Given the description of an element on the screen output the (x, y) to click on. 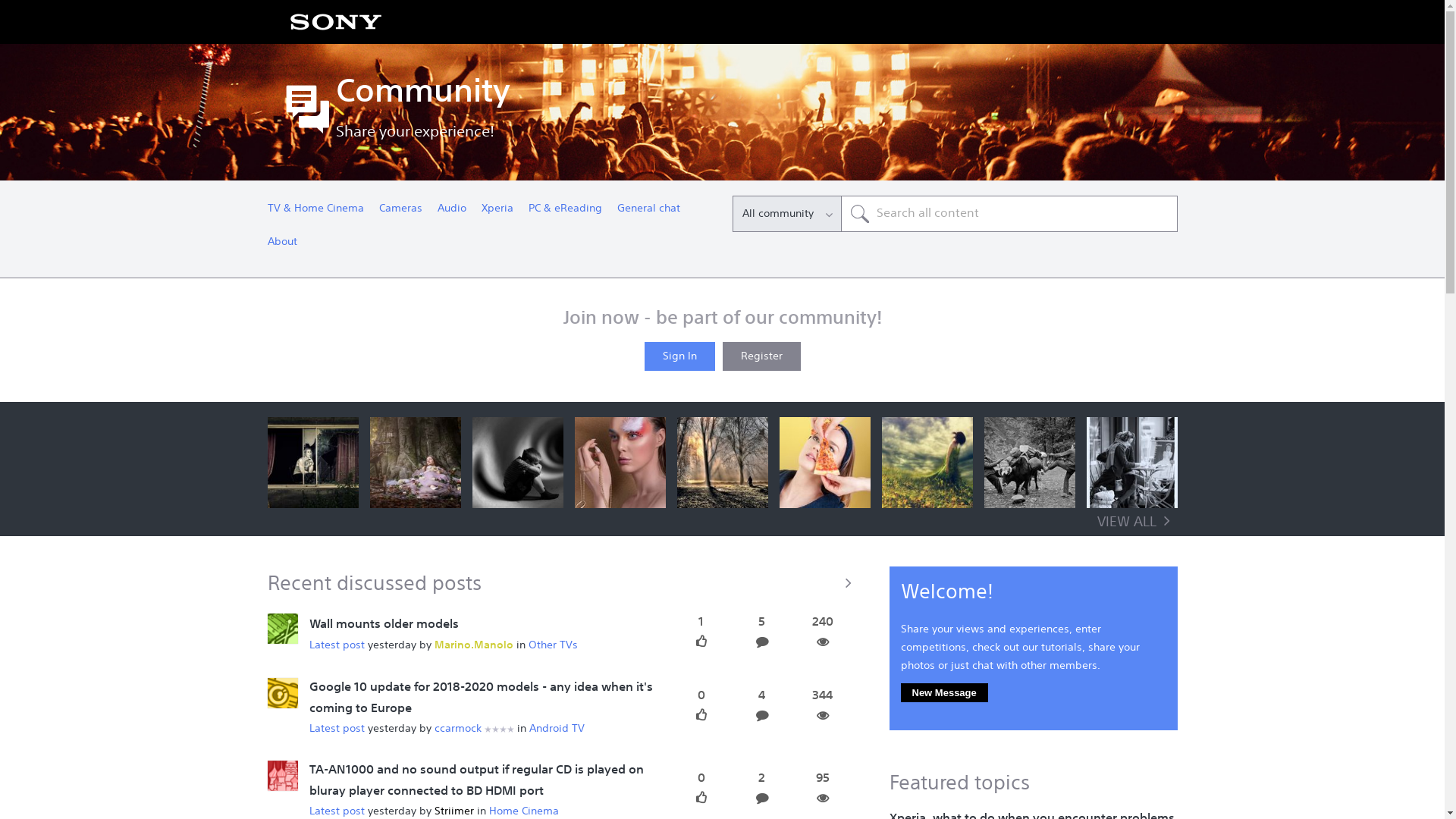
Other TVs Element type: text (552, 645)
wwwest_project_2009_videography_green_2_collage.jpg Element type: hover (926, 462)
Community Element type: text (755, 93)
Latest post Element type: text (336, 728)
About Element type: text (281, 243)
Latest post Element type: text (336, 811)
VIEW ALL POSTS Element type: text (562, 582)
Cameras Element type: text (400, 209)
Smudgero Element type: hover (281, 629)
Morgennebel.jpg Element type: hover (721, 462)
Ask now Element type: text (859, 213)
Register Element type: text (760, 356)
Sign In Element type: text (679, 356)
Bydandie Element type: hover (281, 693)
Striimer Element type: hover (281, 775)
ccarmock Element type: text (456, 728)
General chat Element type: text (648, 209)
VIEW ALL Element type: text (1136, 522)
TV & Home Cinema Element type: text (314, 209)
_DSC2700-Bearbeitet.jpg Element type: hover (1130, 462)
Android TV Element type: text (556, 728)
Latest post Element type: text (336, 645)
Xperia Element type: text (496, 209)
traumer.jpg Element type: hover (516, 462)
Aufladen.jpg Element type: hover (1029, 462)
PC & eReading Element type: text (564, 209)
Home Cinema Element type: text (523, 811)
Striimer Element type: text (453, 811)
New Message Element type: text (944, 692)
Marino.Manolo Element type: text (472, 645)
Member Element type: hover (498, 728)
DSC_4091.jpg Element type: hover (311, 462)
Wall mounts older models Element type: text (383, 624)
Audio Element type: text (450, 209)
2.jpg Element type: hover (619, 462)
2.jpg Element type: hover (415, 462)
Search Element type: hover (1008, 213)
gotowe2.jpg Element type: hover (824, 462)
